Given the description of an element on the screen output the (x, y) to click on. 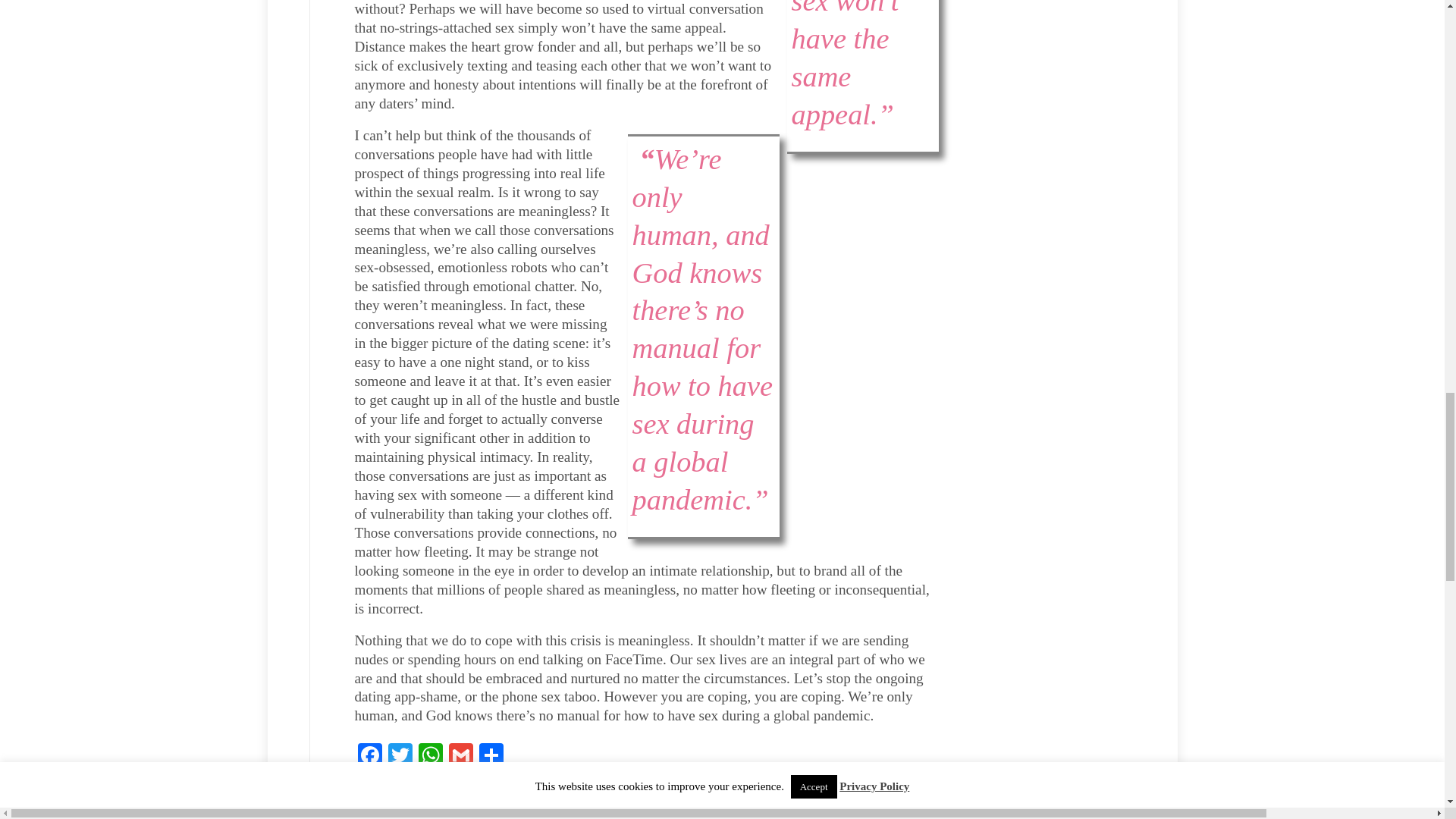
Facebook (370, 756)
WhatsApp (429, 756)
Gmail (460, 756)
Gmail (460, 756)
Twitter (399, 756)
Twitter (399, 756)
Facebook (370, 756)
WhatsApp (429, 756)
